Given the description of an element on the screen output the (x, y) to click on. 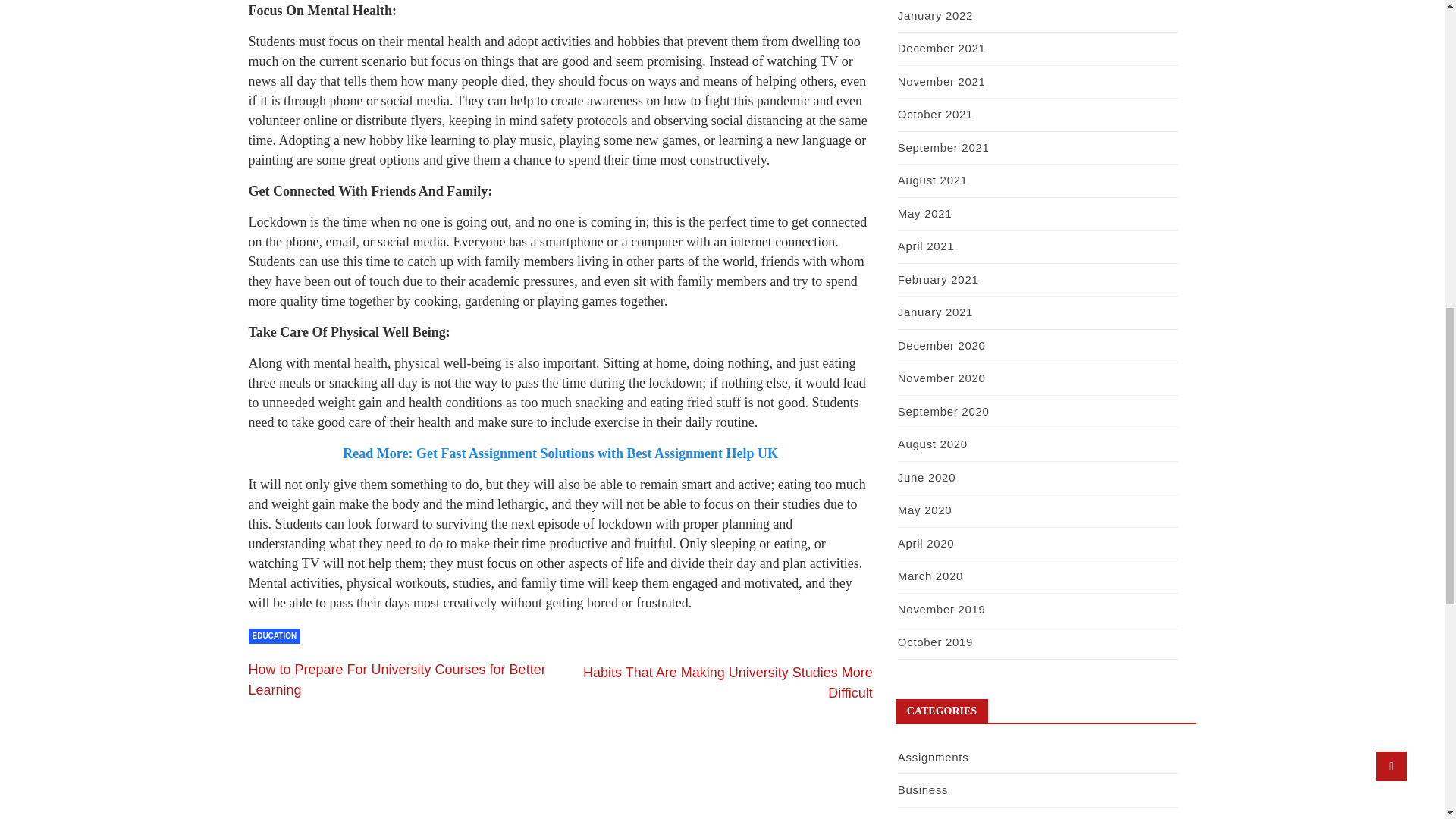
January 2022 (935, 15)
EDUCATION (274, 635)
How to Prepare For University Courses for Better Learning (397, 679)
December 2021 (941, 47)
Habits That Are Making University Studies More Difficult (727, 683)
